Given the description of an element on the screen output the (x, y) to click on. 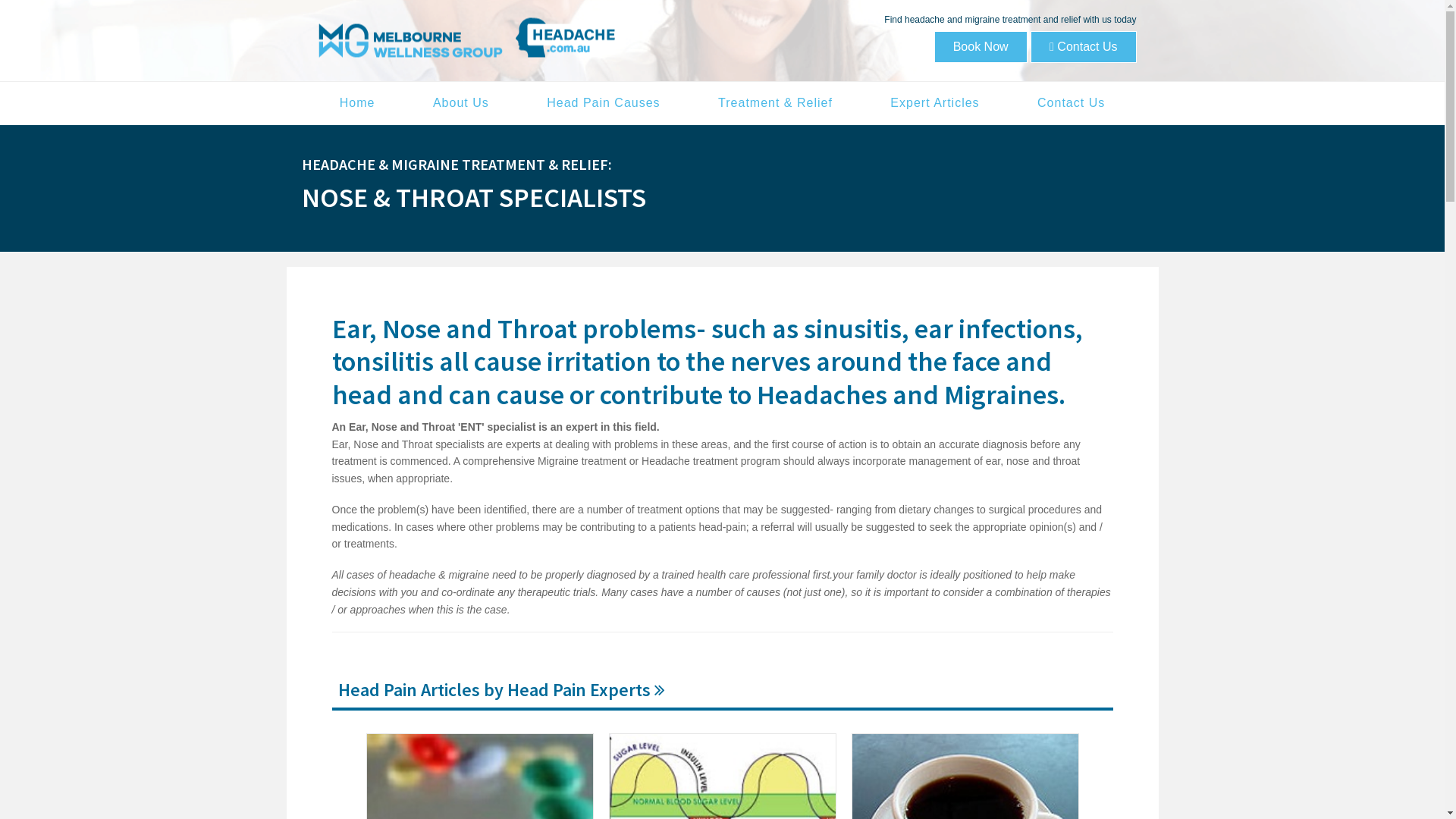
headache.com.au Element type: text (464, 38)
Contact Us Element type: text (1071, 102)
Head Pain Causes Element type: text (603, 102)
Book Now Element type: text (980, 46)
About Us Element type: text (460, 102)
Home Element type: text (357, 102)
Contact Us Element type: text (1082, 46)
Treatment & Relief Element type: text (774, 102)
Expert Articles Element type: text (934, 102)
